Given the description of an element on the screen output the (x, y) to click on. 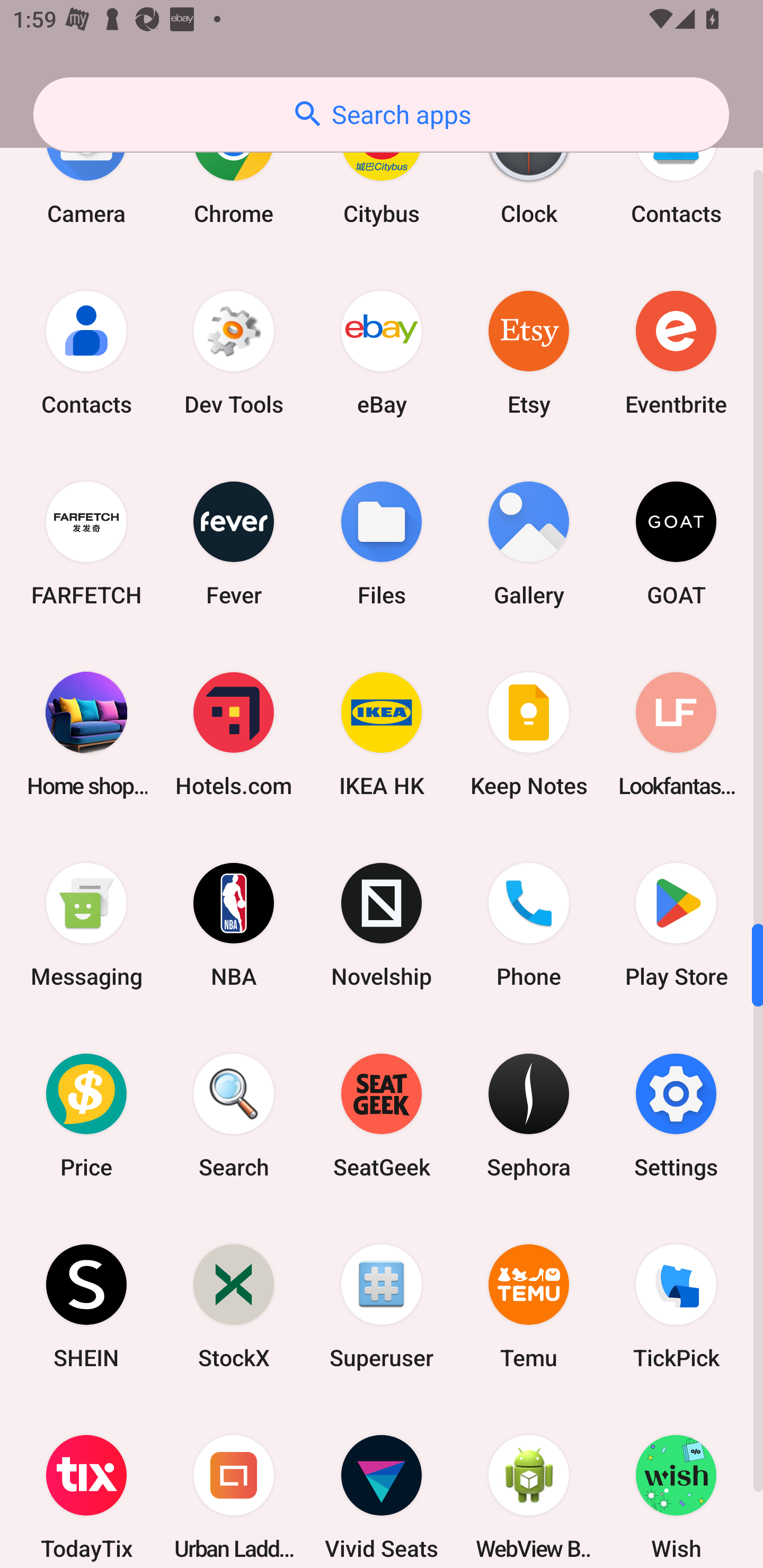
  Search apps (381, 114)
Contacts (86, 352)
Dev Tools (233, 352)
eBay (381, 352)
Etsy (528, 352)
Eventbrite (676, 352)
FARFETCH (86, 543)
Fever (233, 543)
Files (381, 543)
Gallery (528, 543)
GOAT (676, 543)
Home shopping (86, 733)
Hotels.com (233, 733)
IKEA HK (381, 733)
Keep Notes (528, 733)
Lookfantastic (676, 733)
Messaging (86, 924)
NBA (233, 924)
Novelship (381, 924)
Phone (528, 924)
Play Store (676, 924)
Price (86, 1115)
Search (233, 1115)
SeatGeek (381, 1115)
Sephora (528, 1115)
Settings (676, 1115)
SHEIN (86, 1305)
StockX (233, 1305)
Superuser (381, 1305)
Temu (528, 1305)
TickPick (676, 1305)
TodayTix (86, 1484)
Urban Ladder (233, 1484)
Vivid Seats (381, 1484)
WebView Browser Tester (528, 1484)
Wish (676, 1484)
